Given the description of an element on the screen output the (x, y) to click on. 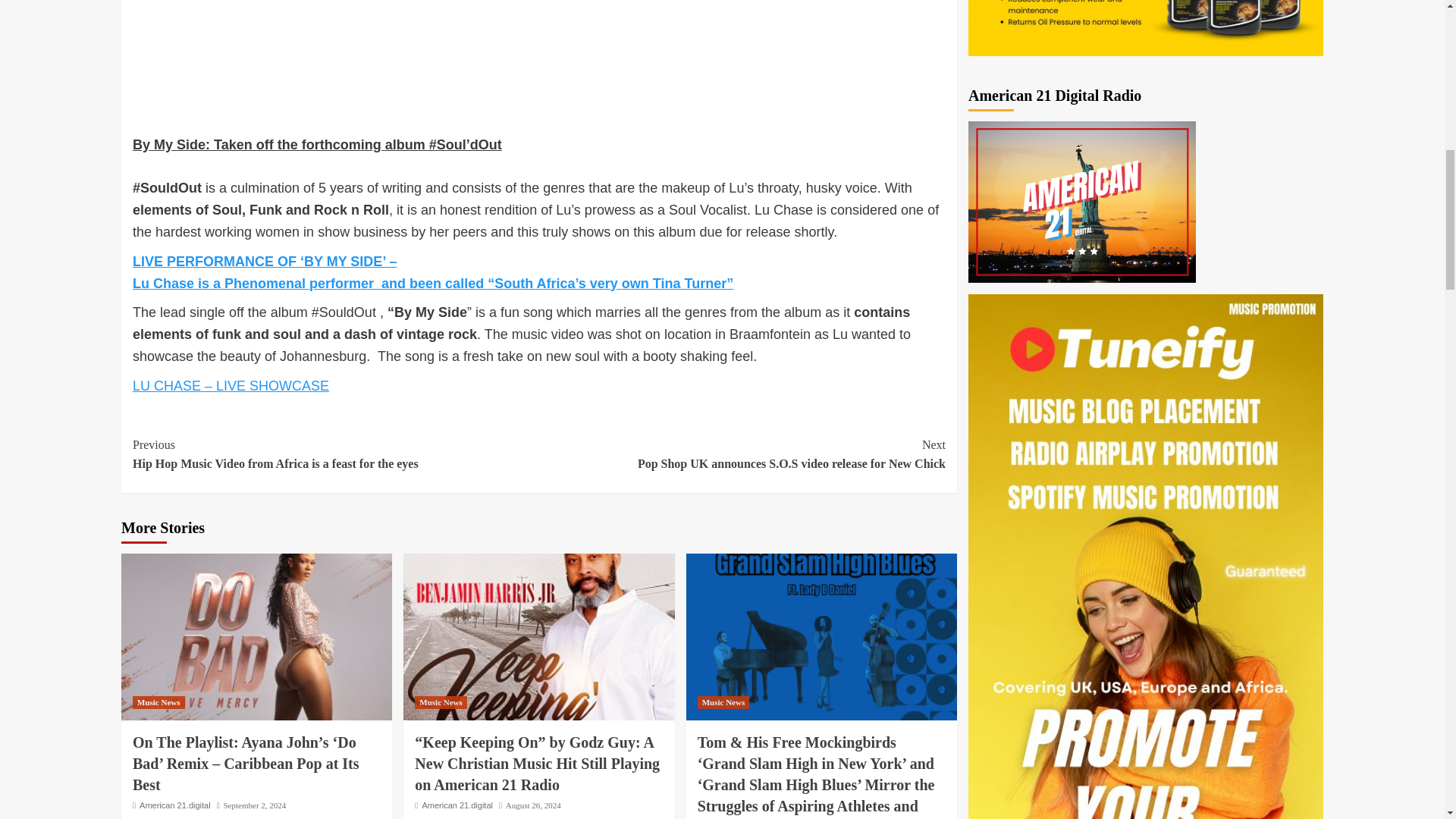
American 21.digital (175, 804)
September 2, 2024 (253, 804)
Music News (741, 454)
American 21.digital (158, 702)
August 26, 2024 (457, 804)
Music News (532, 804)
Music News (440, 702)
